Given the description of an element on the screen output the (x, y) to click on. 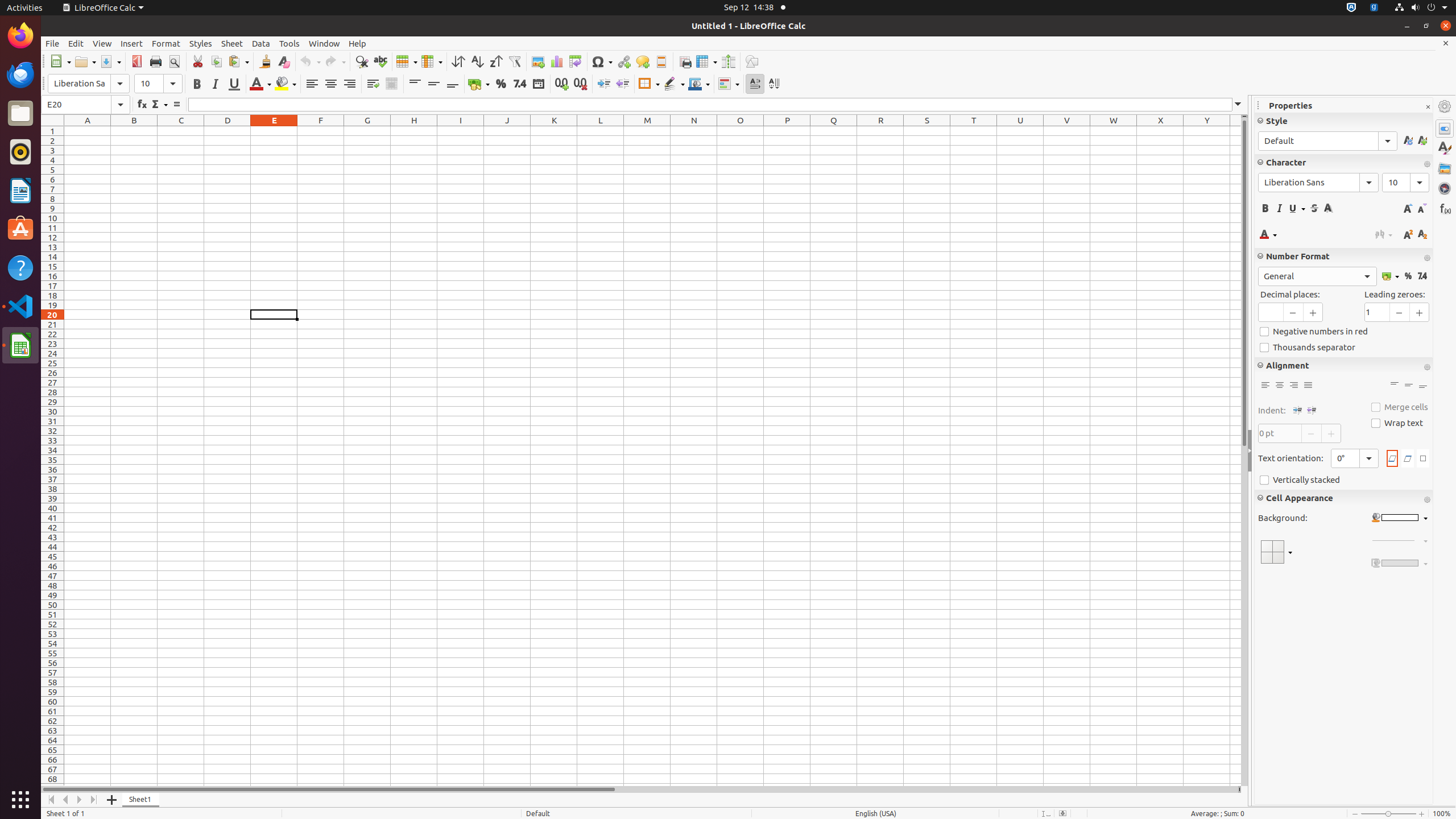
Align Top Element type: push-button (414, 83)
Category Element type: combo-box (1317, 276)
Function Wizard Element type: push-button (141, 104)
P1 Element type: table-cell (786, 130)
Q1 Element type: table-cell (833, 130)
